Given the description of an element on the screen output the (x, y) to click on. 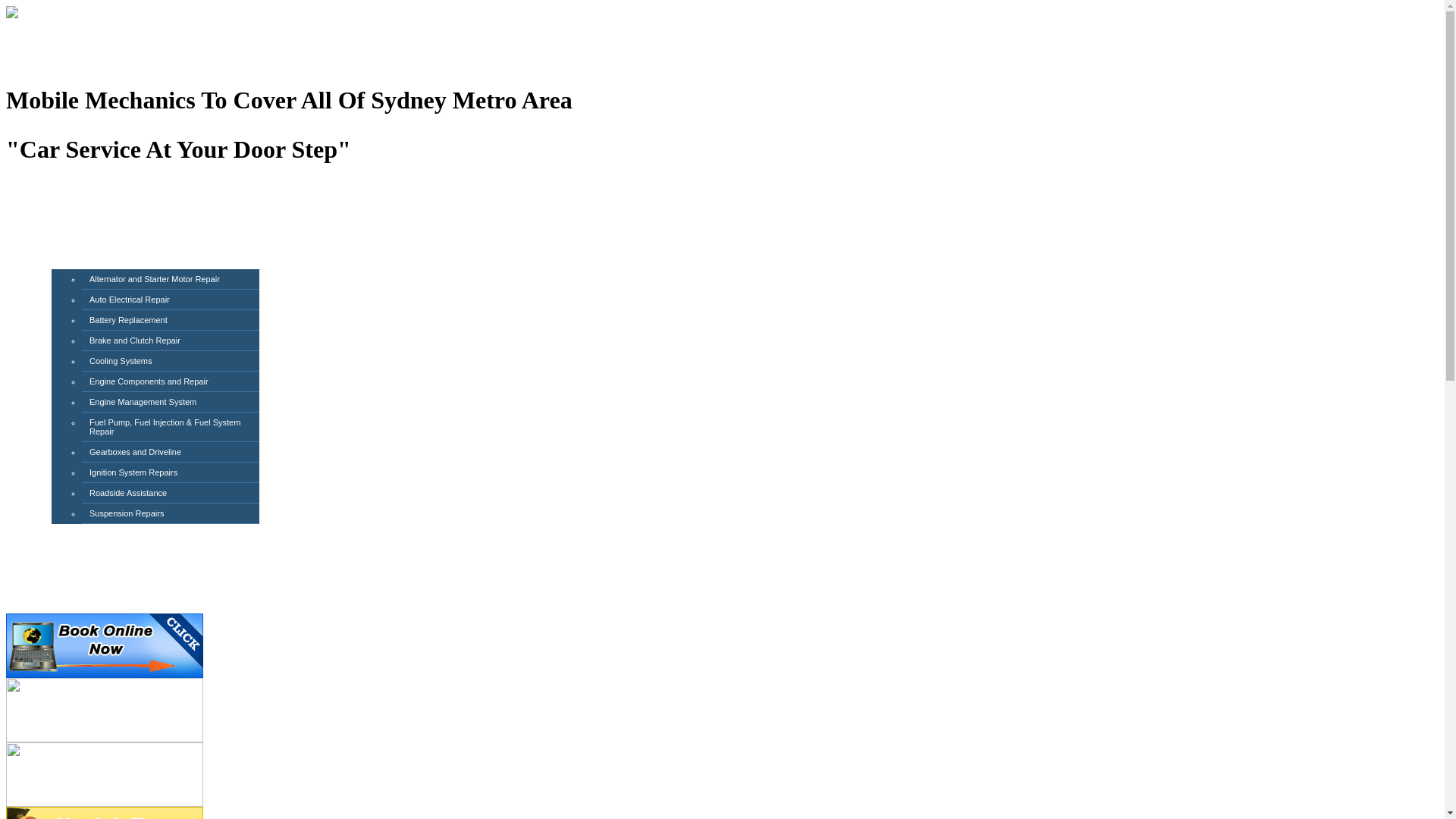
Gearboxes and Driveline Element type: text (135, 451)
CONTACT US Element type: text (83, 584)
Alternator and Starter Motor Repair Element type: text (154, 278)
Battery Replacement Element type: text (128, 319)
Engine Components and Repair Element type: text (148, 380)
CAR MECHANICAL REPAIRS Element type: text (119, 263)
PRE PURCHASE INSPECTION Element type: text (121, 551)
Fuel Pump, Fuel Injection & Fuel System Repair Element type: text (164, 426)
Brake and Clutch Repair Element type: text (134, 340)
MANUFACTURER SERVICE Element type: text (115, 229)
HOME Element type: text (66, 196)
Ignition System Repairs Element type: text (133, 471)
Suspension Repairs Element type: text (126, 512)
Engine Management System Element type: text (142, 401)
Roadside Assistance Element type: text (127, 492)
Cooling Systems Element type: text (120, 360)
Auto Electrical Repair Element type: text (129, 299)
